Given the description of an element on the screen output the (x, y) to click on. 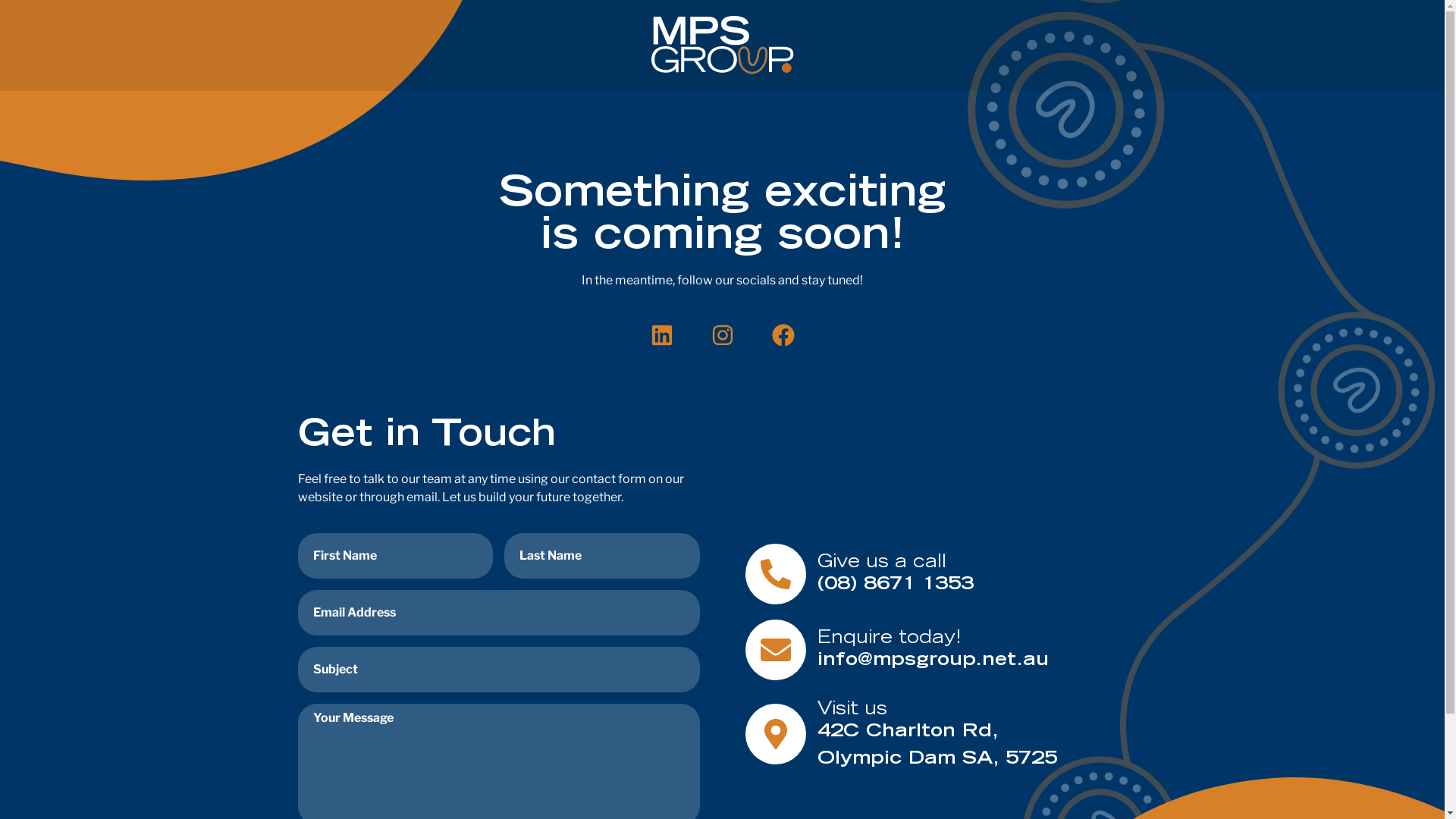
Give us a call Element type: text (881, 562)
Visit us Element type: text (852, 709)
Enquire today! Element type: text (889, 638)
